Given the description of an element on the screen output the (x, y) to click on. 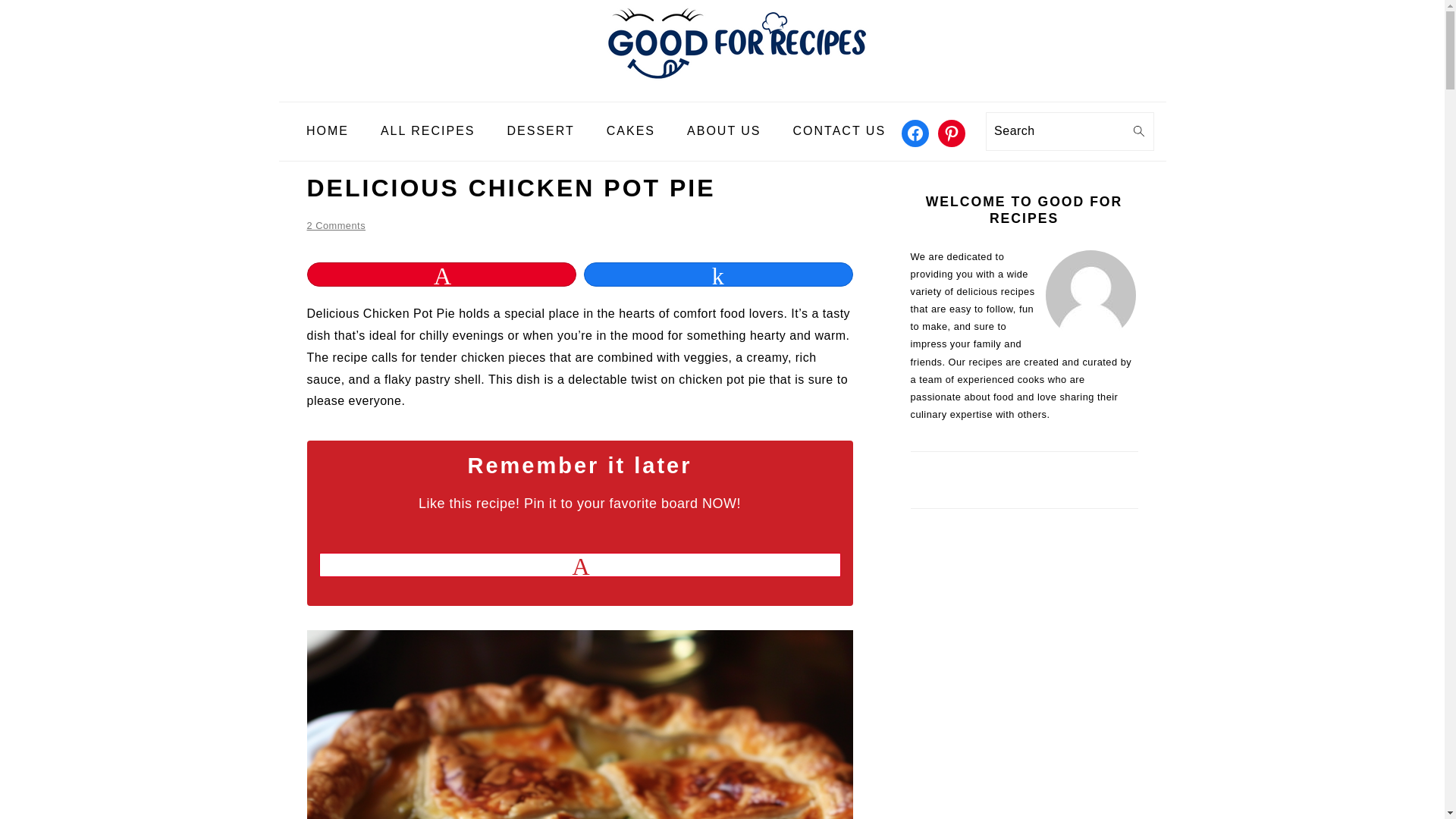
ABOUT US (724, 131)
ALL RECIPES (428, 131)
PINTEREST (951, 133)
HOME (327, 131)
Good For Recipes (721, 89)
CAKES (631, 131)
2 Comments (335, 225)
